Given the description of an element on the screen output the (x, y) to click on. 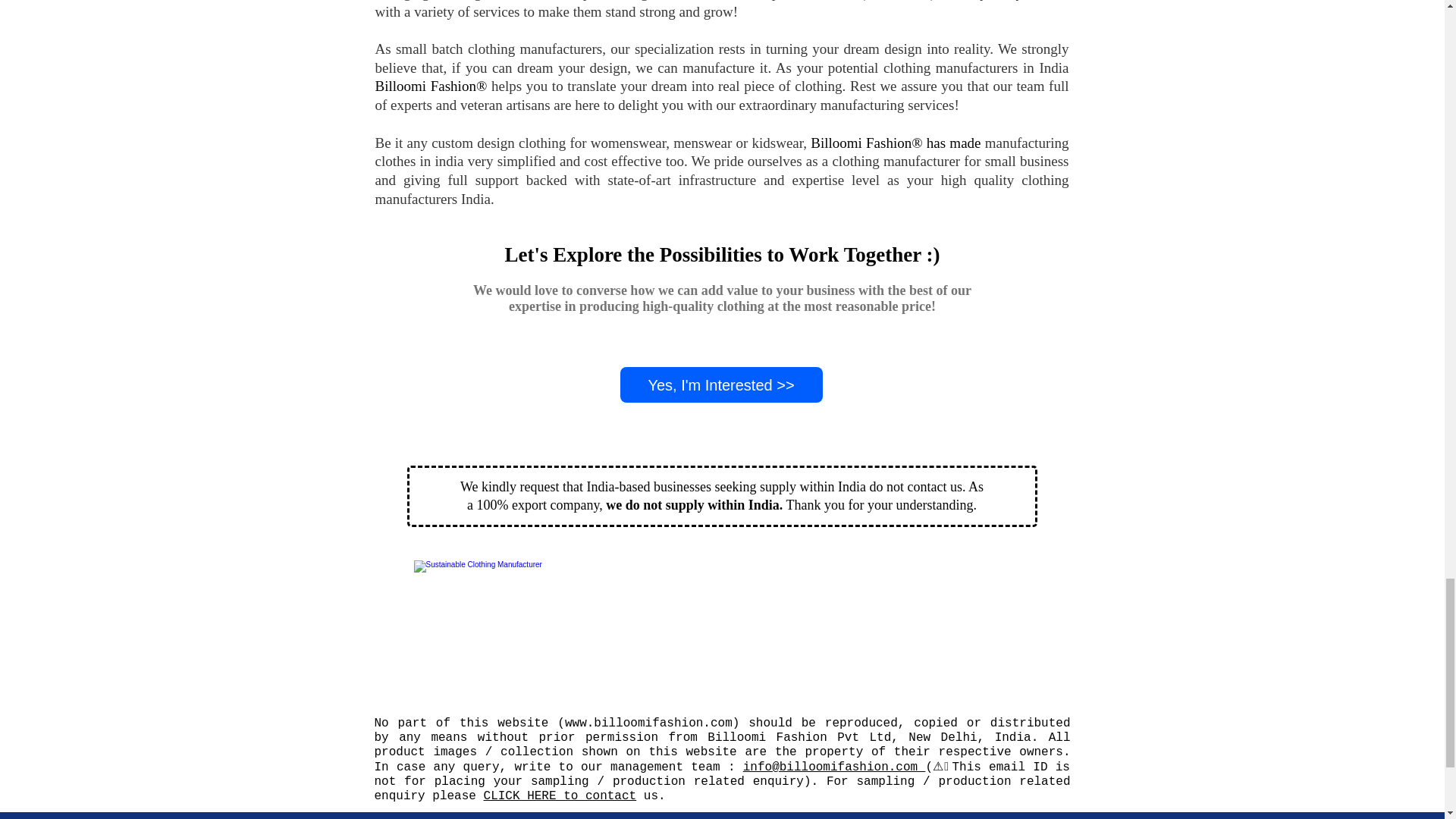
www.billoomifashion.com (648, 723)
clothing manufacturer for small business (949, 160)
small batch clothing manufacturers (499, 48)
